Given the description of an element on the screen output the (x, y) to click on. 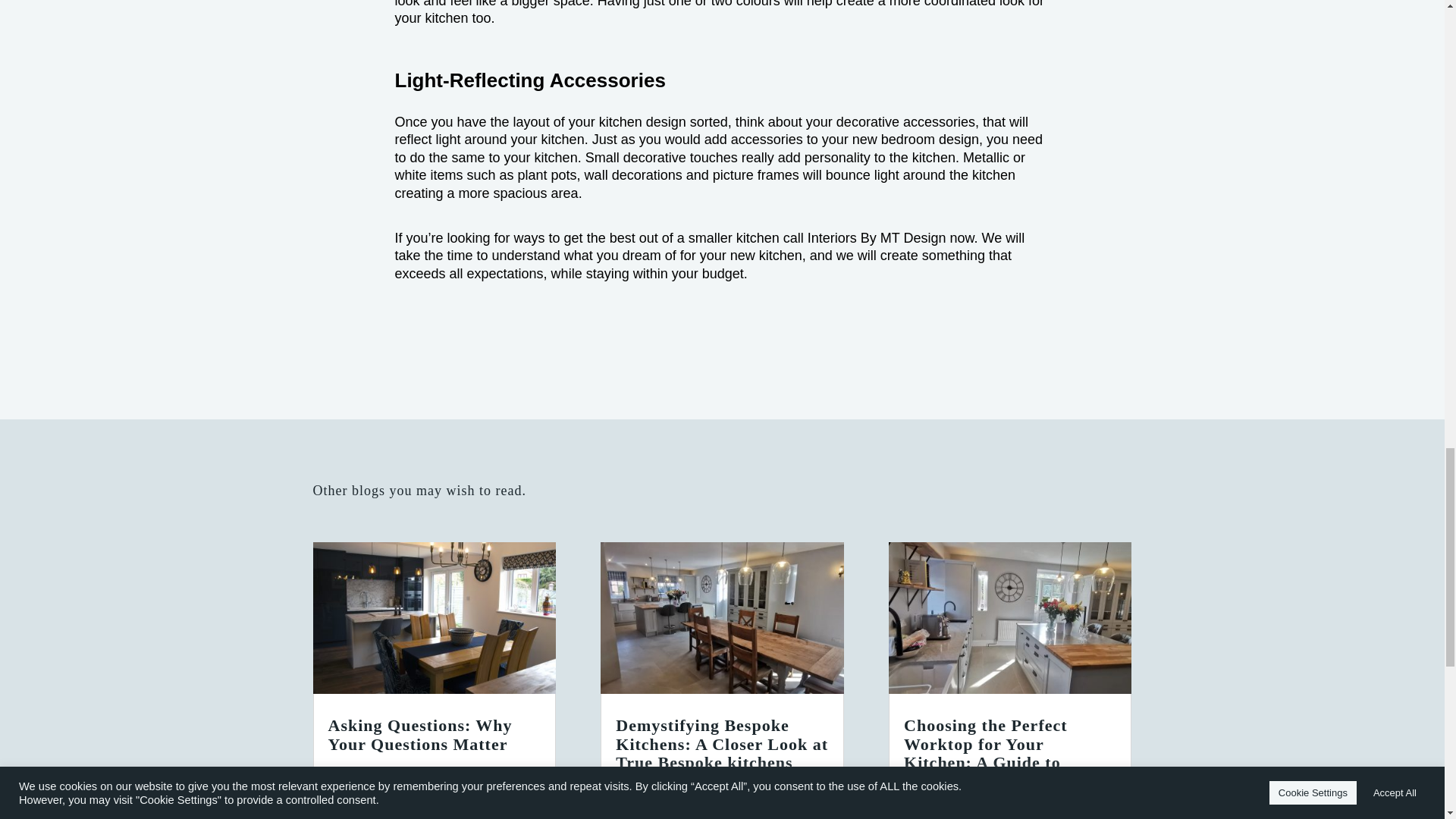
Asking Questions: Why Your Questions Matter (419, 733)
Kitchen (515, 778)
Kitchen Designer (375, 812)
Maggie Talbot (385, 778)
Posts by Maggie Talbot (673, 796)
Posts by Maggie Talbot (385, 778)
Maggie Talbot (673, 796)
